Given the description of an element on the screen output the (x, y) to click on. 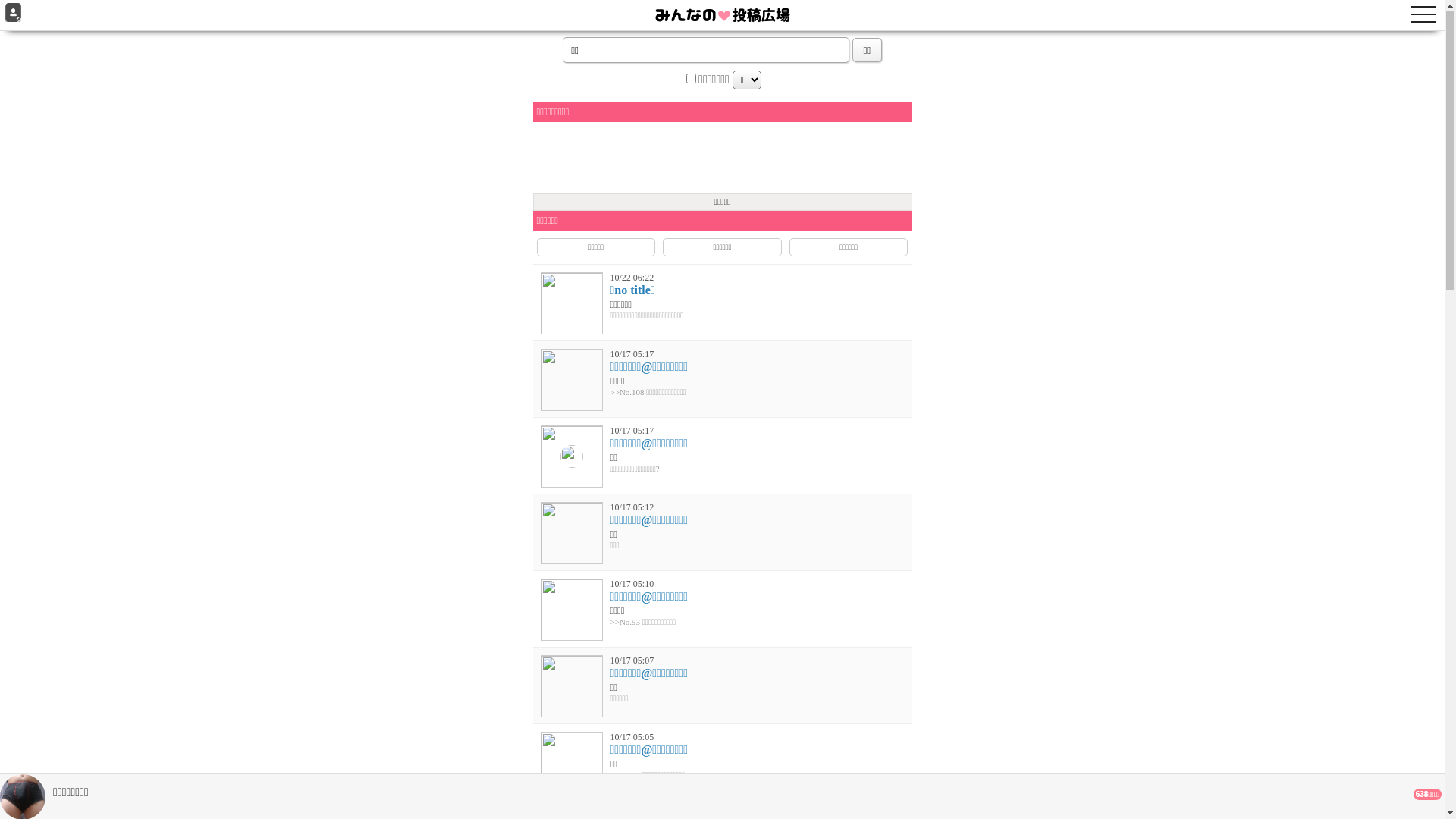
toggle navigation Element type: text (1423, 19)
